Given the description of an element on the screen output the (x, y) to click on. 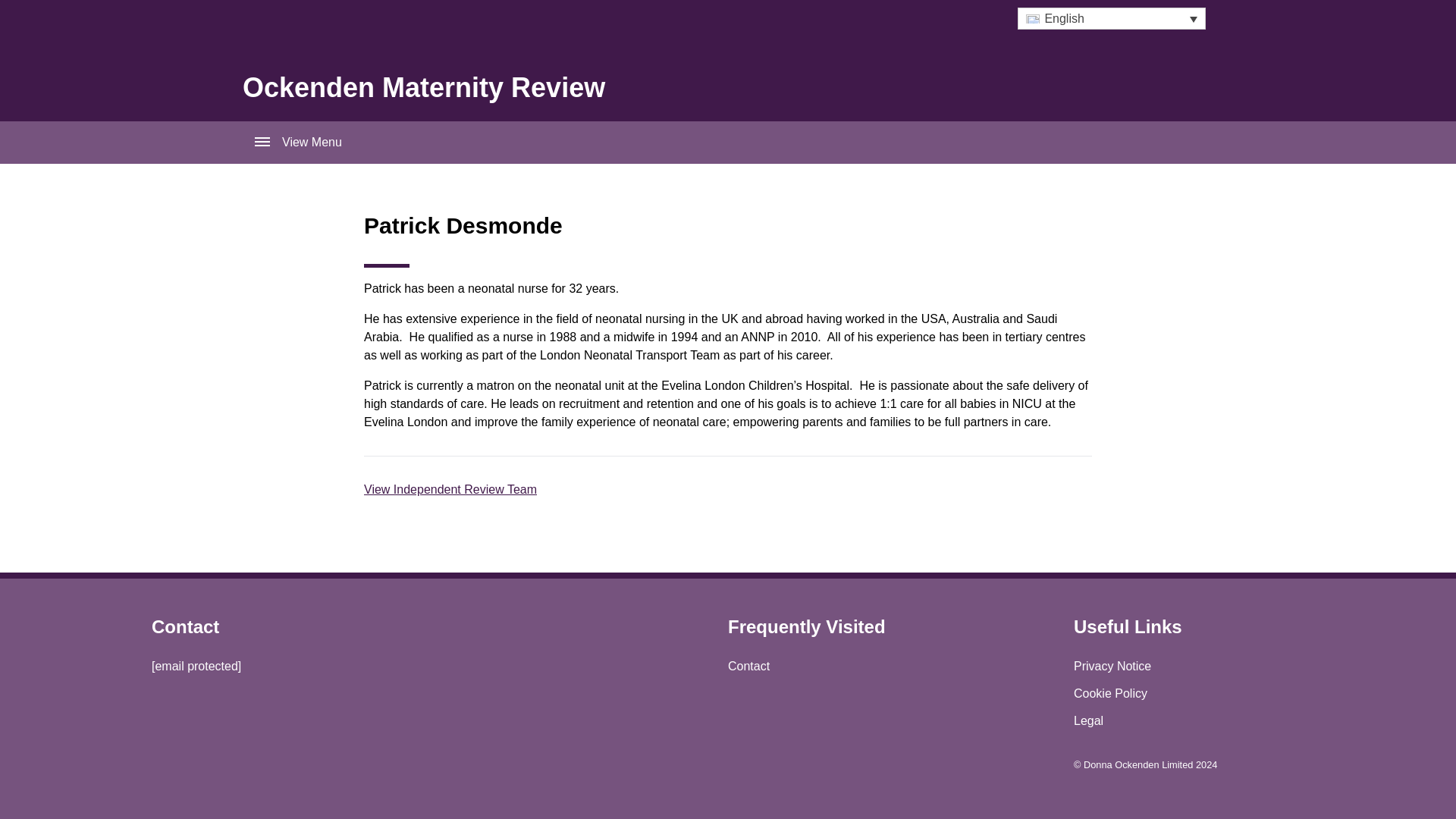
English (1111, 18)
Contact (749, 666)
View Menu (727, 142)
View Independent Review Team (450, 489)
Ockenden Maternity Review (424, 87)
